Given the description of an element on the screen output the (x, y) to click on. 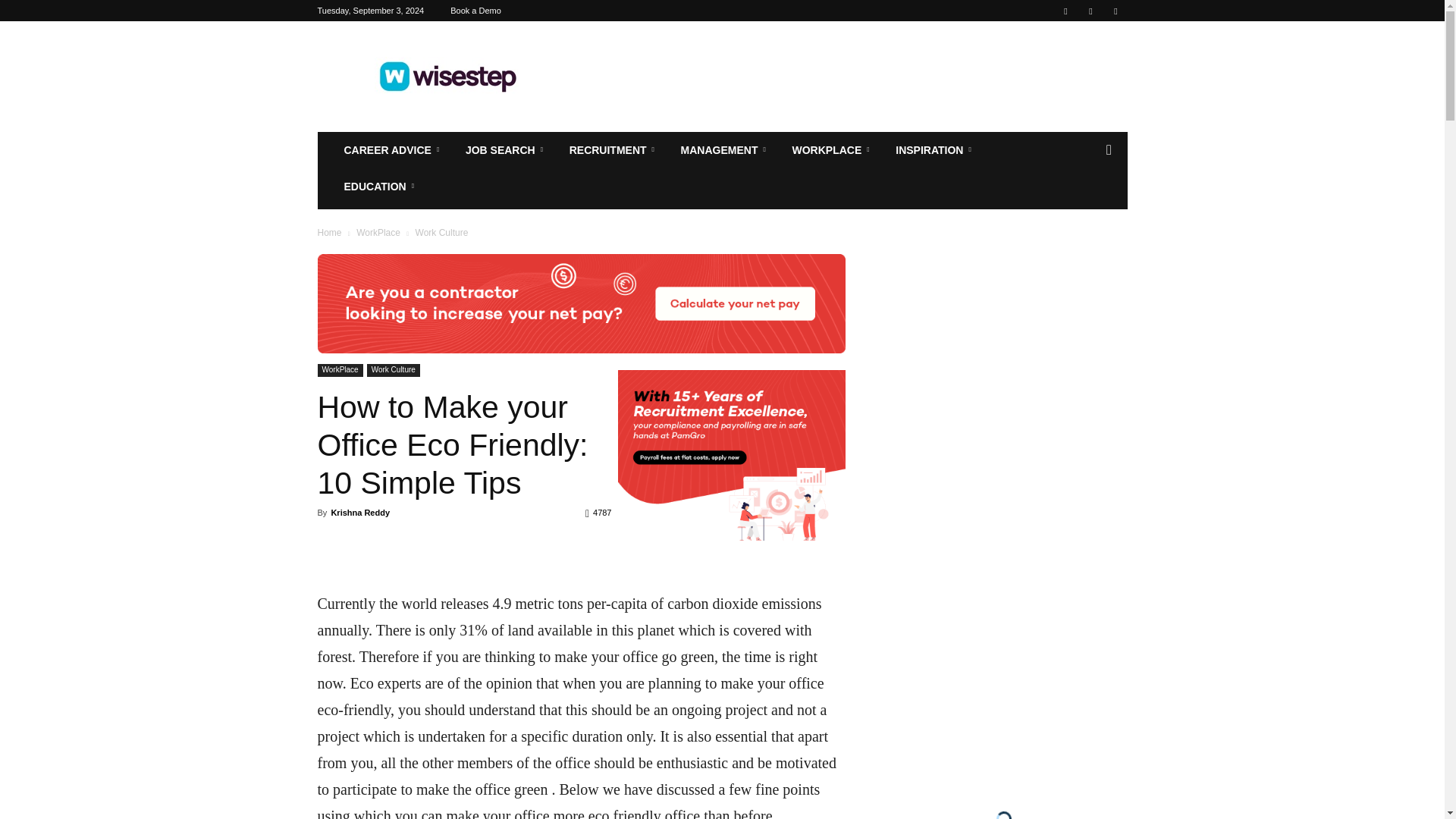
Facebook (1065, 10)
Telegram (1114, 10)
Linkedin (1090, 10)
Accelerating Recruitment (446, 76)
